Given the description of an element on the screen output the (x, y) to click on. 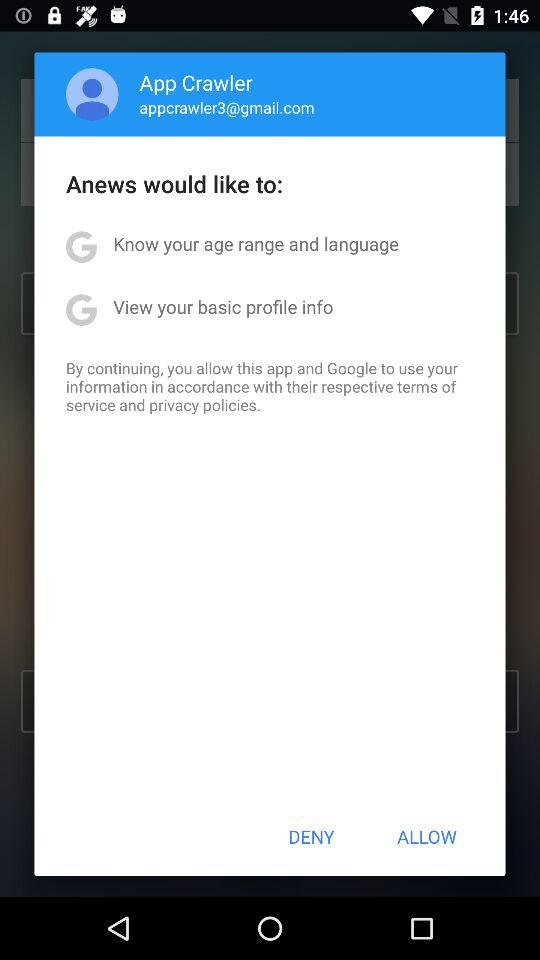
launch the app above the anews would like (226, 107)
